Given the description of an element on the screen output the (x, y) to click on. 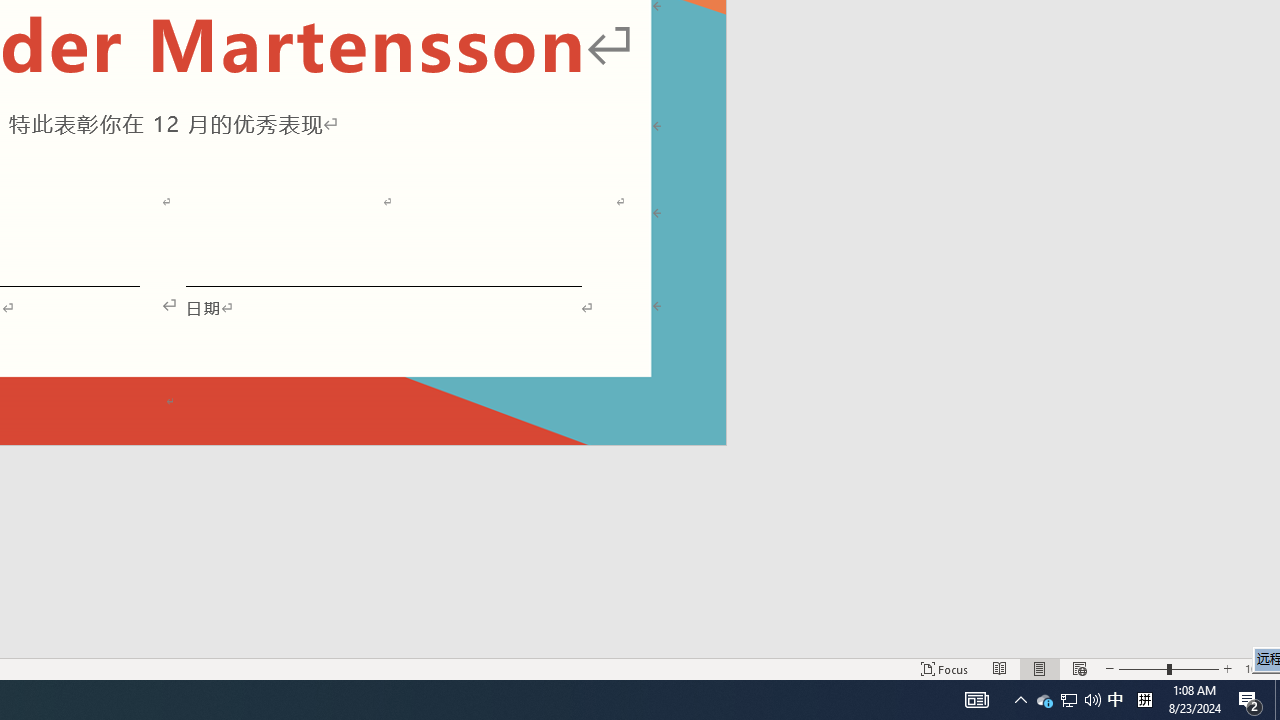
Zoom 100% (1258, 668)
